Given the description of an element on the screen output the (x, y) to click on. 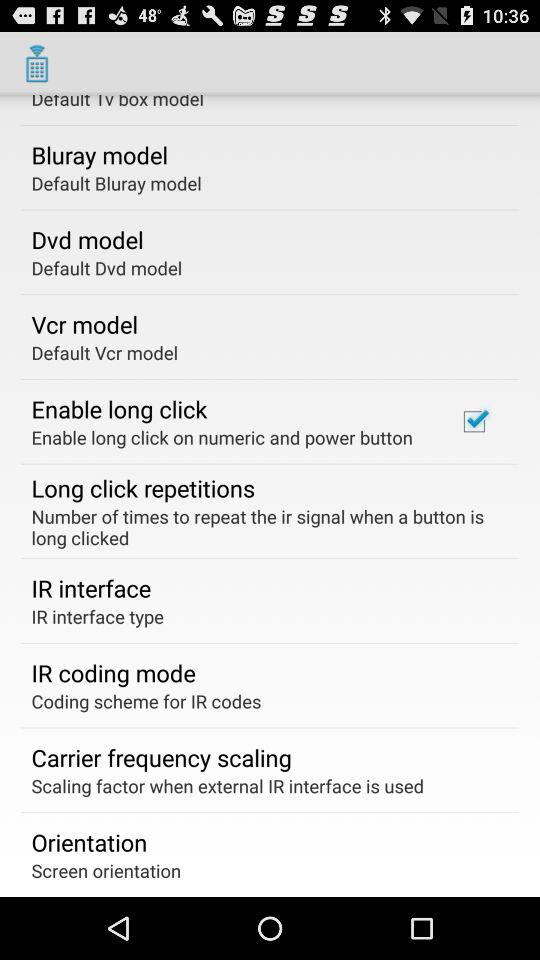
tap app next to the enable long click icon (474, 421)
